Given the description of an element on the screen output the (x, y) to click on. 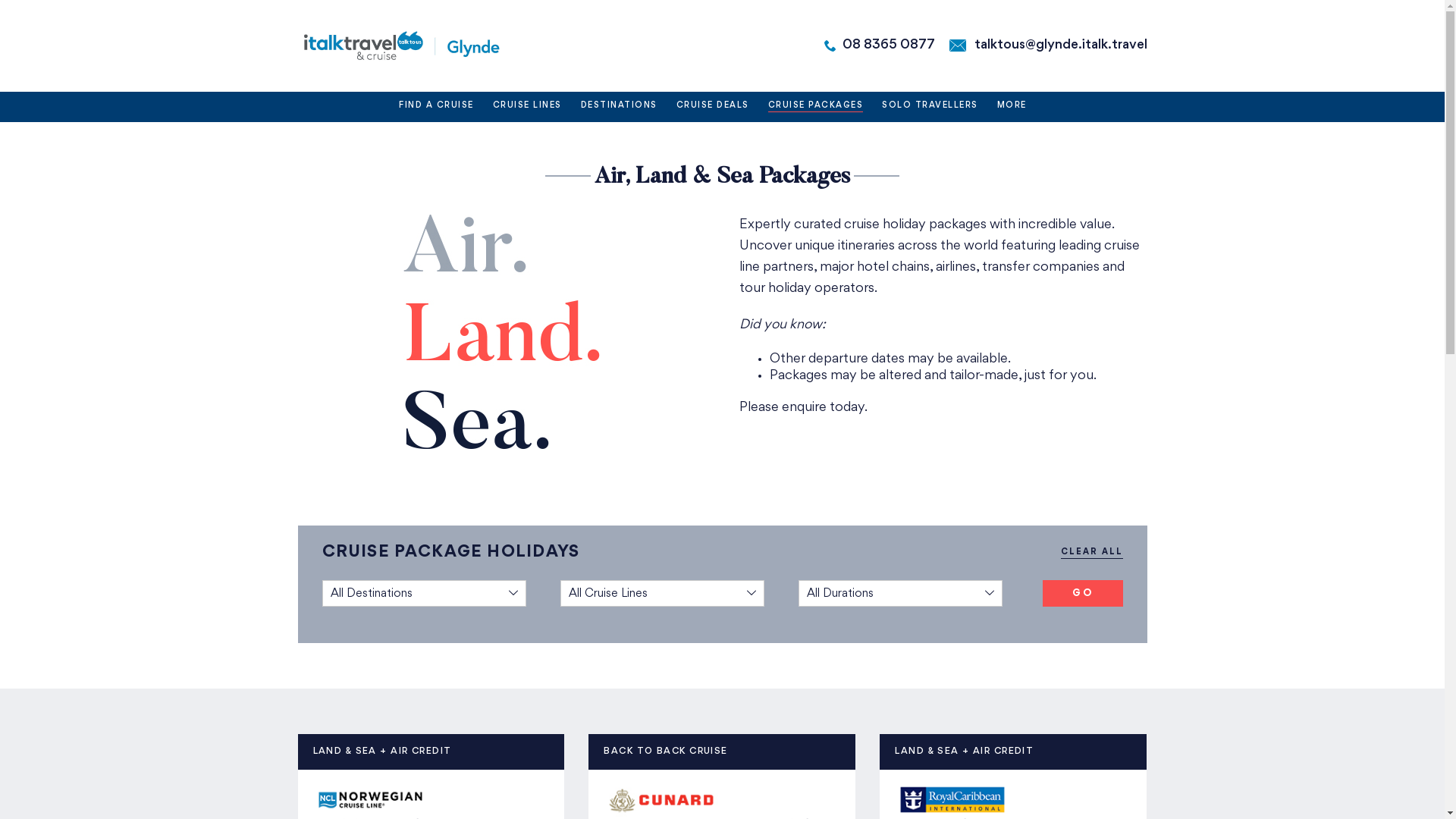
CRUISE LINES Element type: text (526, 106)
MORE Element type: text (1011, 106)
CRUISE PACKAGES Element type: text (815, 106)
talktous@glynde.italk.travel Element type: text (1059, 45)
SOLO TRAVELLERS Element type: text (929, 106)
DESTINATIONS Element type: text (618, 106)
CRUISE DEALS Element type: text (712, 106)
08 8365 0877 Element type: text (887, 45)
GO Element type: text (1082, 593)
FIND A CRUISE Element type: text (435, 106)
